Given the description of an element on the screen output the (x, y) to click on. 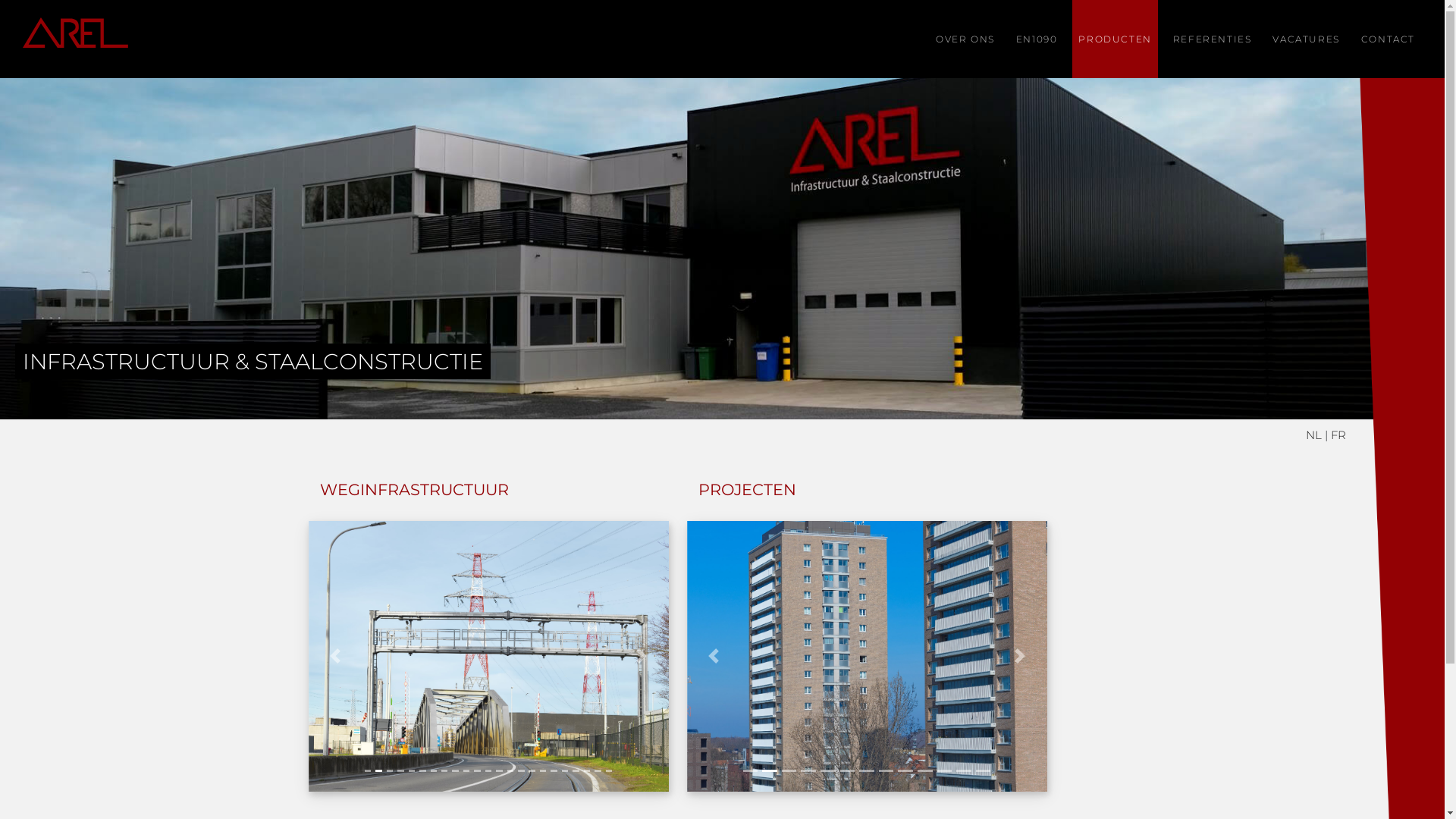
Previous Element type: text (713, 655)
OVER ONS Element type: text (965, 39)
NL Element type: text (1313, 434)
PRODUCTEN Element type: text (1114, 39)
Next Element type: text (1019, 655)
Previous Element type: text (334, 655)
Arel Element type: hover (75, 38)
EN1090 Element type: text (1036, 39)
Next Element type: text (641, 655)
REFERENTIES Element type: text (1212, 39)
VACATURES Element type: text (1305, 39)
CONTACT Element type: text (1388, 39)
FR Element type: text (1338, 434)
